Given the description of an element on the screen output the (x, y) to click on. 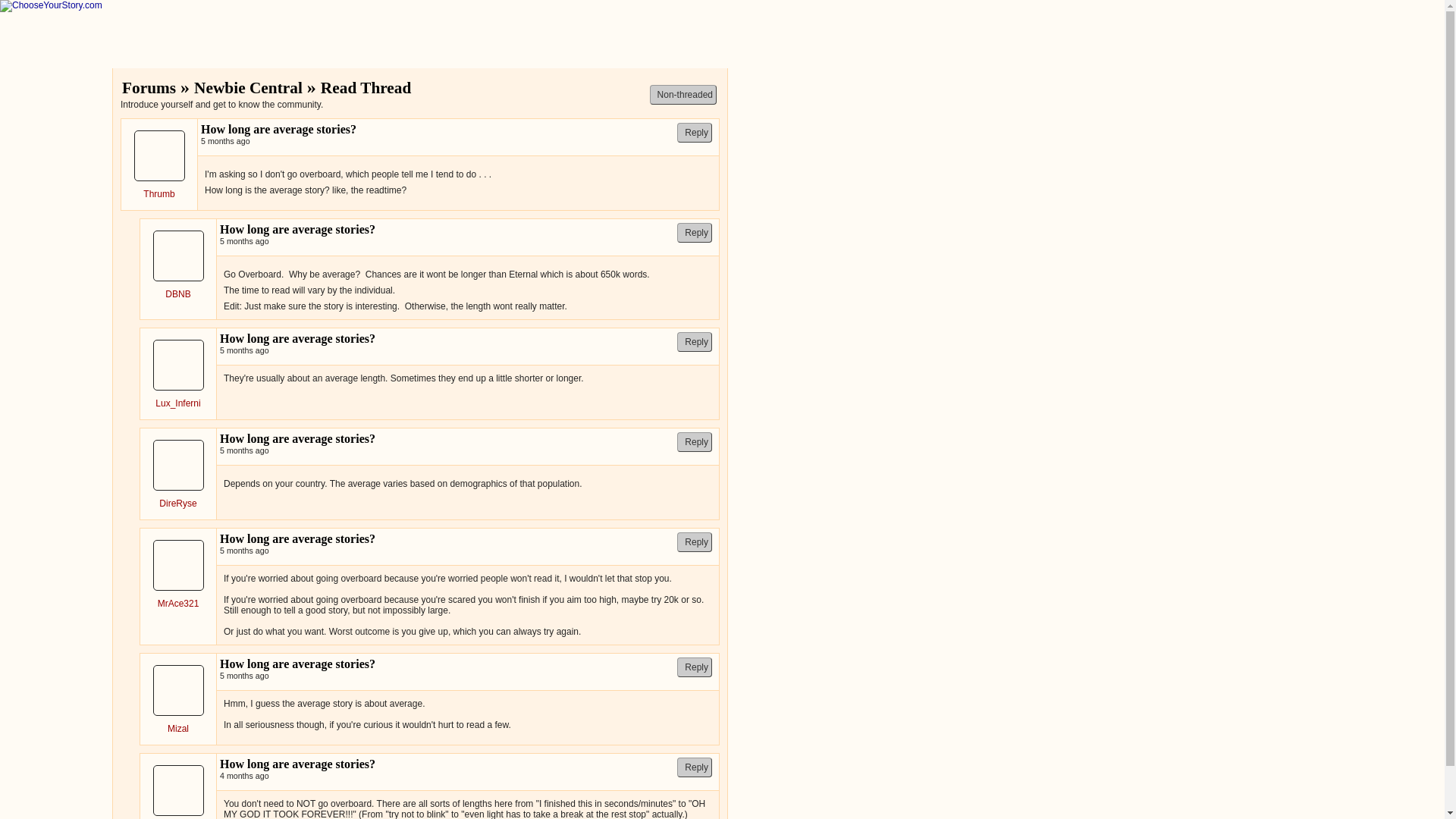
Reply (694, 542)
Profile page for Mizal (177, 728)
Mizal (177, 728)
Reply (694, 442)
DBNB (177, 294)
MrAce321 (177, 603)
Forums (149, 87)
Reply (694, 667)
Reply (694, 767)
Reply (694, 232)
Newbie Central (247, 87)
Profile page for DireRyse (177, 502)
Reply (694, 132)
Profile page for MrAce321 (177, 603)
Reply (694, 342)
